Given the description of an element on the screen output the (x, y) to click on. 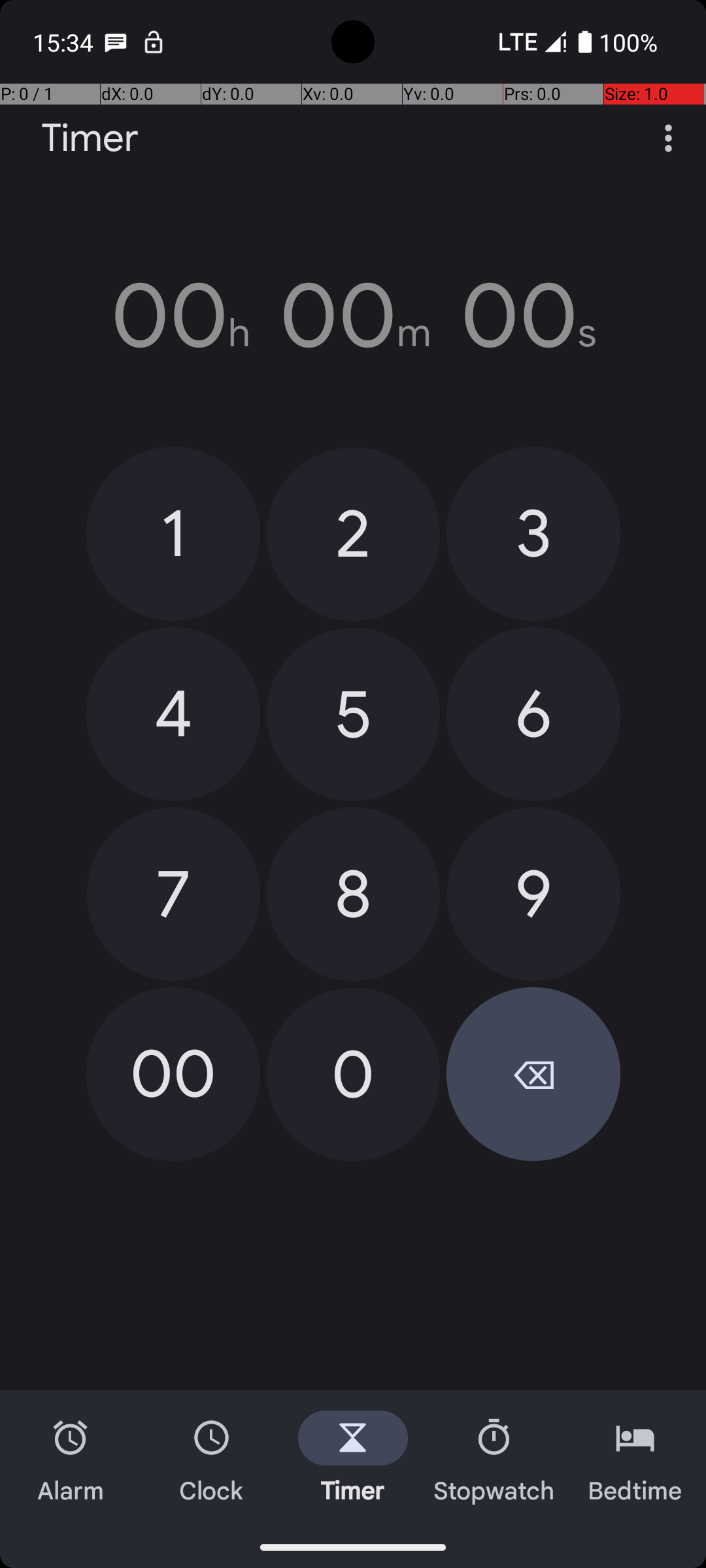
Tasks notification: Connection security Element type: android.widget.ImageView (153, 41)
